Given the description of an element on the screen output the (x, y) to click on. 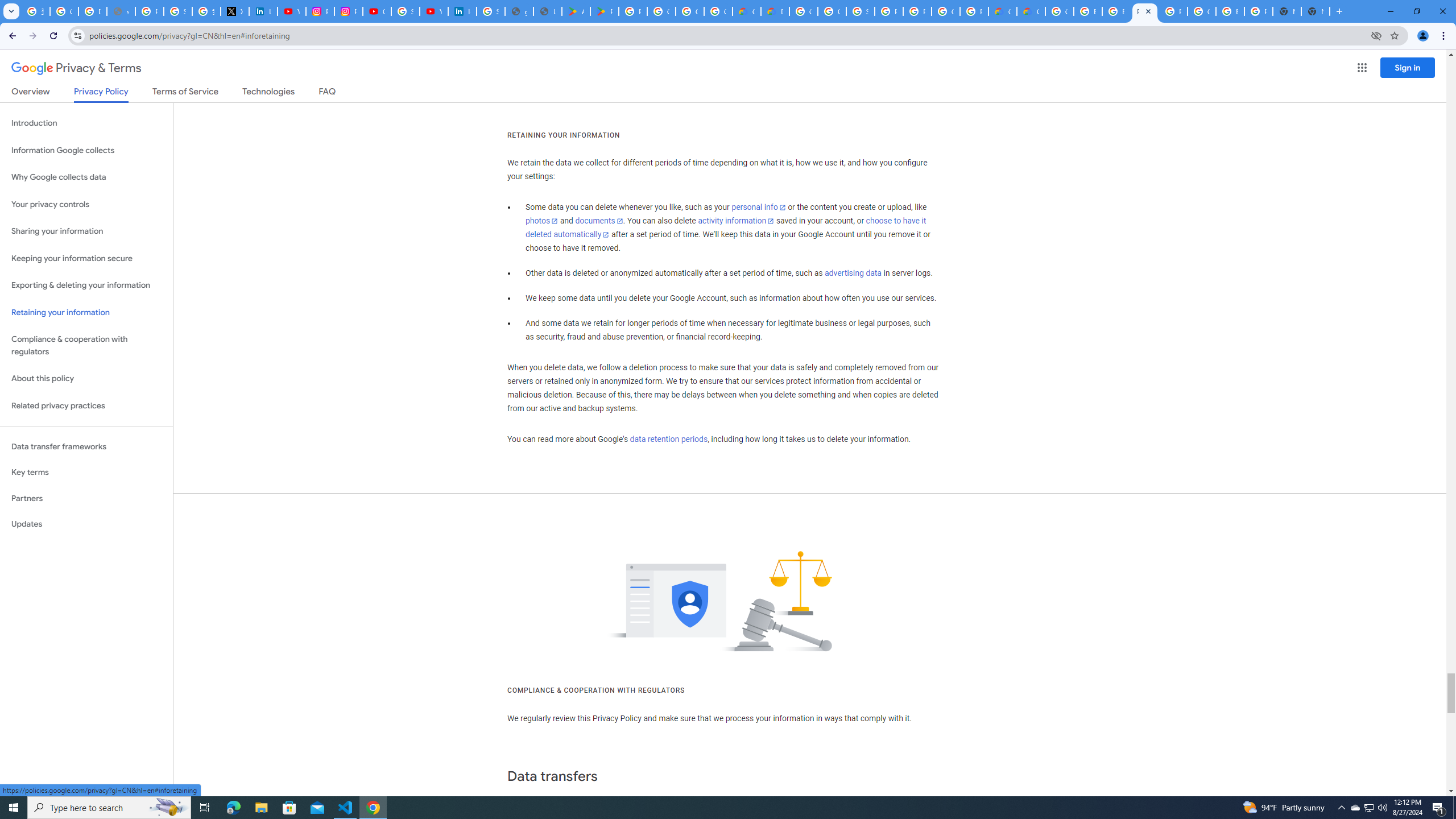
support.google.com - Network error (120, 11)
LinkedIn Privacy Policy (263, 11)
Customer Care | Google Cloud (1002, 11)
Customer Care | Google Cloud (746, 11)
personal info (758, 207)
Sign in - Google Accounts (405, 11)
User Details (547, 11)
